Given the description of an element on the screen output the (x, y) to click on. 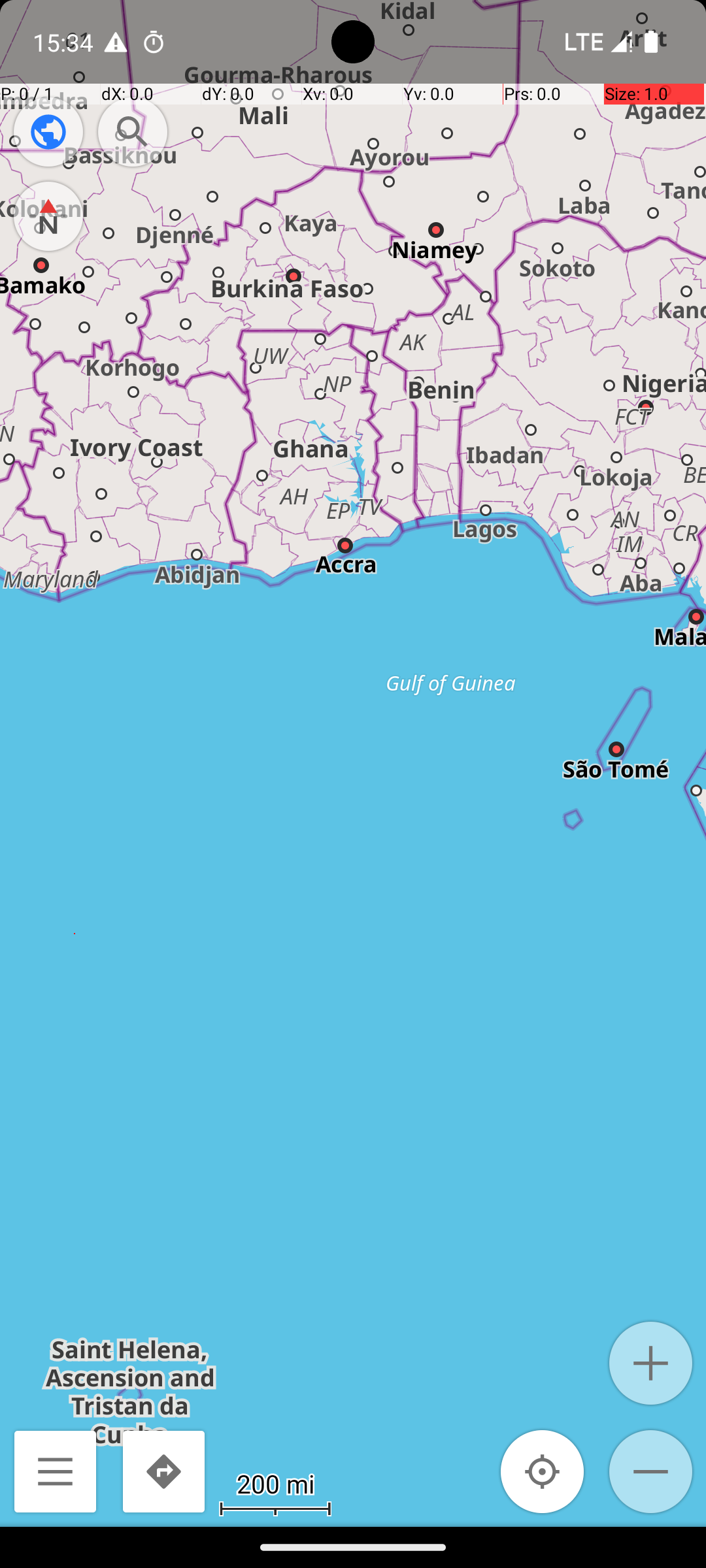
North is up Element type: android.widget.ImageButton (48, 216)
200 mi Element type: android.widget.TextView (274, 1483)
